Given the description of an element on the screen output the (x, y) to click on. 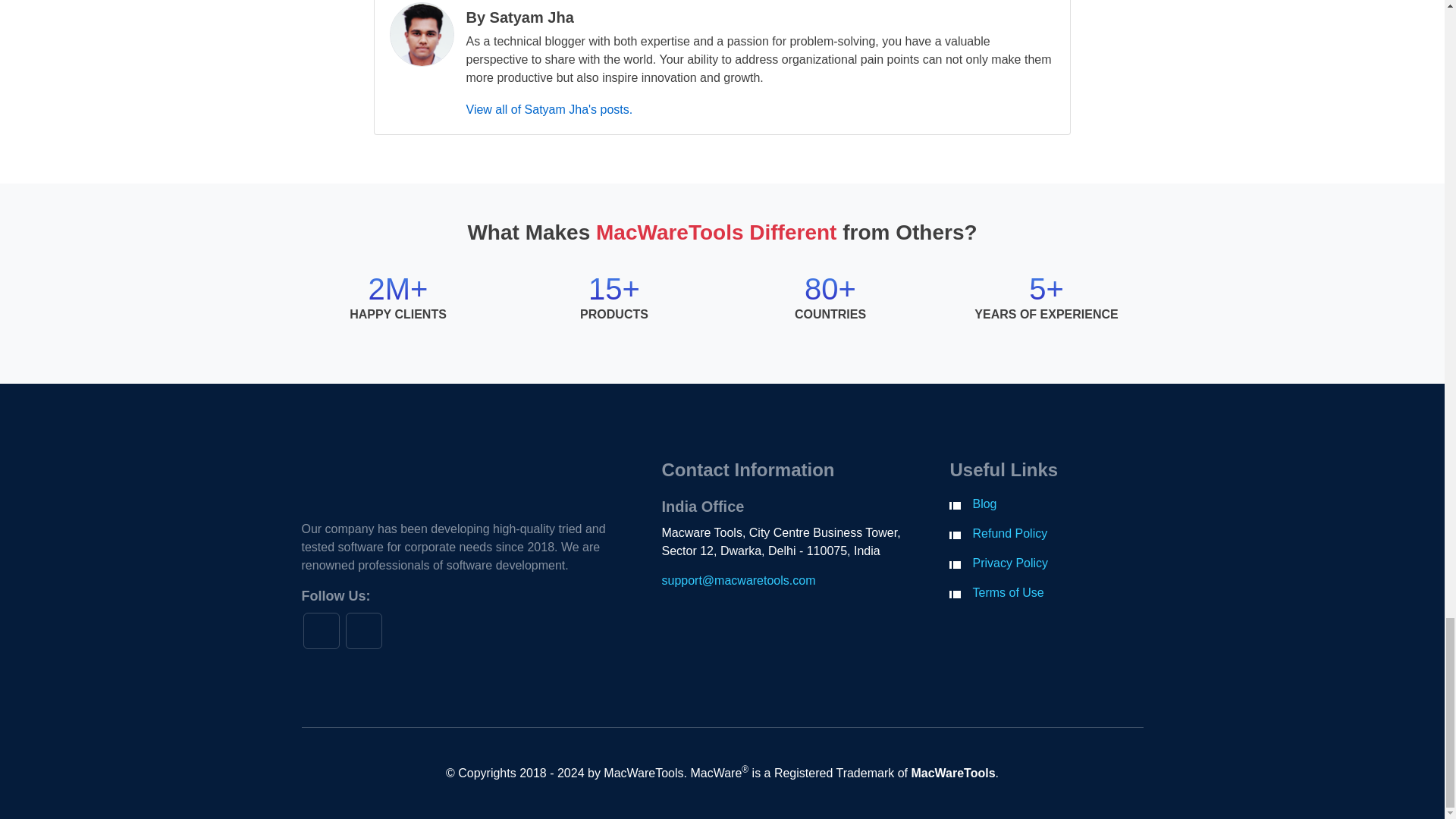
View all of Satyam Jha's posts. (548, 109)
Blog (983, 503)
MacWareTools (952, 772)
Refund Policy (1009, 533)
Terms of Use (1007, 592)
Privacy Policy (1010, 562)
